Given the description of an element on the screen output the (x, y) to click on. 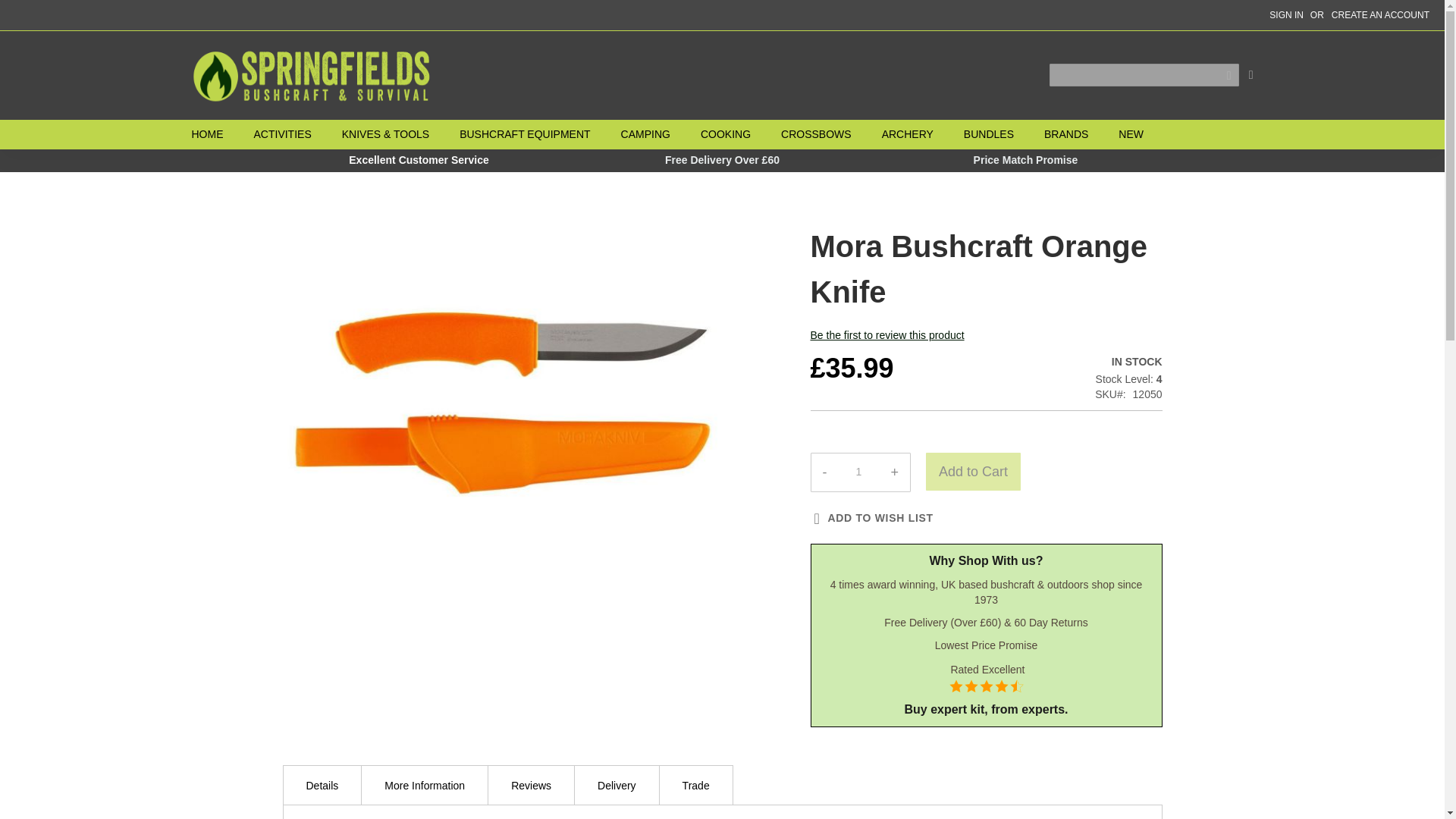
ACTIVITIES (282, 134)
CREATE AN ACCOUNT (1380, 15)
Qty (858, 472)
Availability (1127, 362)
Stock Level: 4 (1127, 379)
HOME (214, 134)
1 (858, 472)
SIGN IN (1286, 15)
Add to Cart (973, 471)
